Given the description of an element on the screen output the (x, y) to click on. 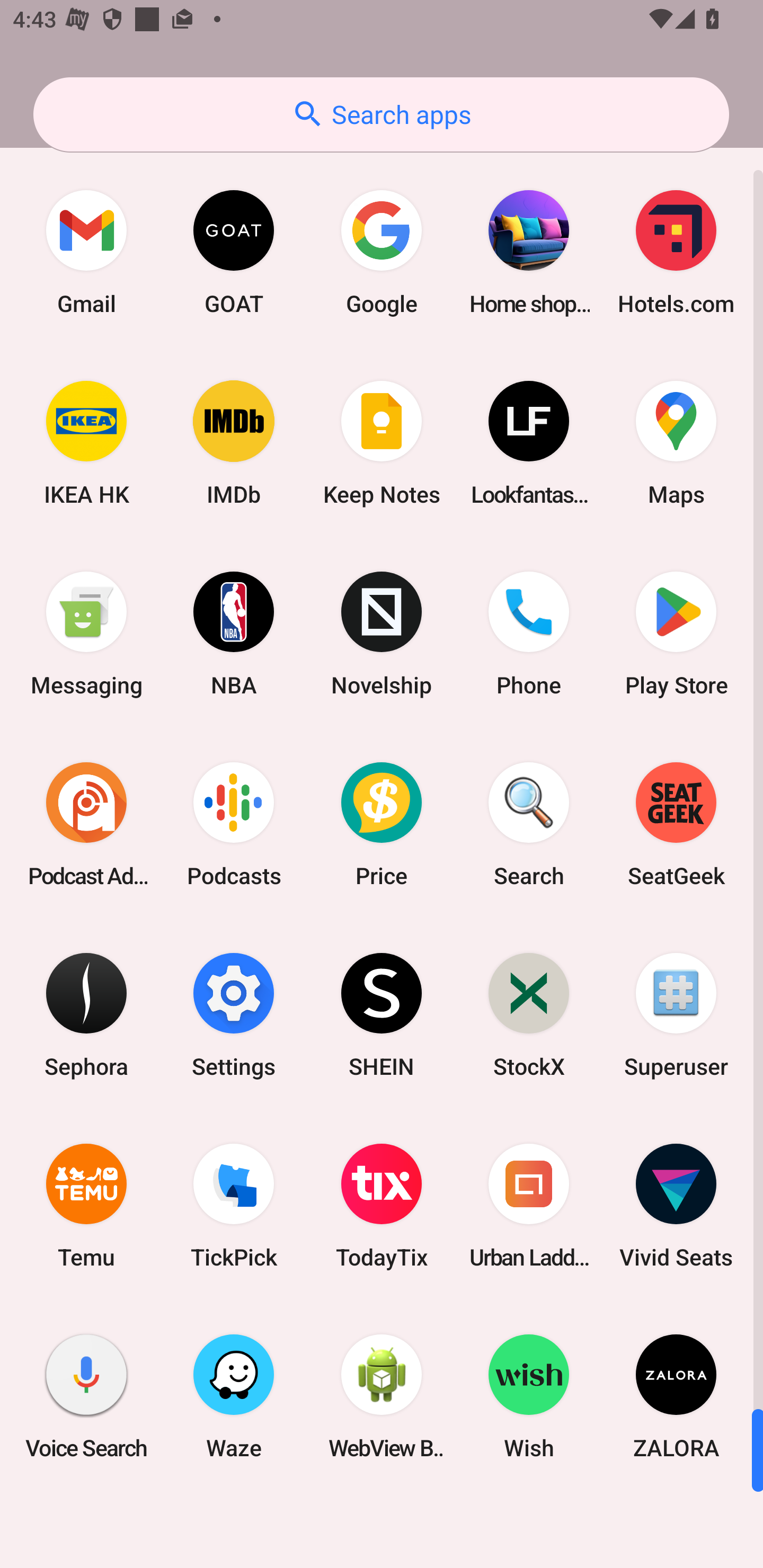
  Search apps (381, 114)
Gmail (86, 252)
GOAT (233, 252)
Google (381, 252)
Home shopping (528, 252)
Hotels.com (676, 252)
IKEA HK (86, 442)
IMDb (233, 442)
Keep Notes (381, 442)
Lookfantastic (528, 442)
Maps (676, 442)
Messaging (86, 633)
NBA (233, 633)
Novelship (381, 633)
Phone (528, 633)
Play Store (676, 633)
Podcast Addict (86, 823)
Podcasts (233, 823)
Price (381, 823)
Search (528, 823)
SeatGeek (676, 823)
Sephora (86, 1014)
Settings (233, 1014)
SHEIN (381, 1014)
StockX (528, 1014)
Superuser (676, 1014)
Temu (86, 1205)
TickPick (233, 1205)
TodayTix (381, 1205)
Urban Ladder (528, 1205)
Vivid Seats (676, 1205)
Voice Search (86, 1396)
Waze (233, 1396)
WebView Browser Tester (381, 1396)
Wish (528, 1396)
ZALORA (676, 1396)
